Given the description of an element on the screen output the (x, y) to click on. 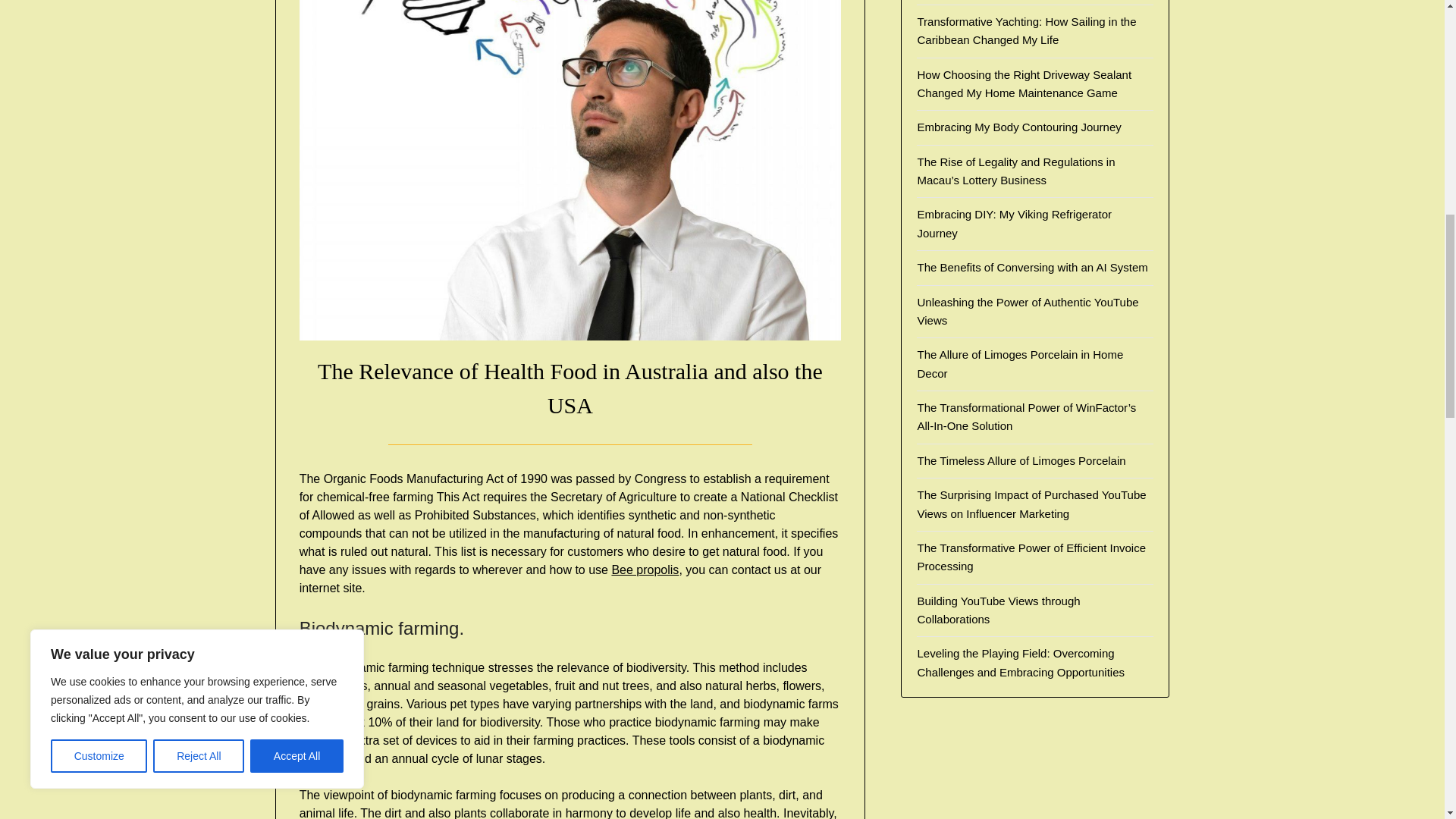
The Benefits of Conversing with an AI System (1032, 267)
Embracing My Body Contouring Journey (1019, 126)
Embracing DIY: My Viking Refrigerator Journey (1014, 223)
Bee propolis (644, 569)
Unleashing the Power of Authentic YouTube Views (1027, 310)
